Given the description of an element on the screen output the (x, y) to click on. 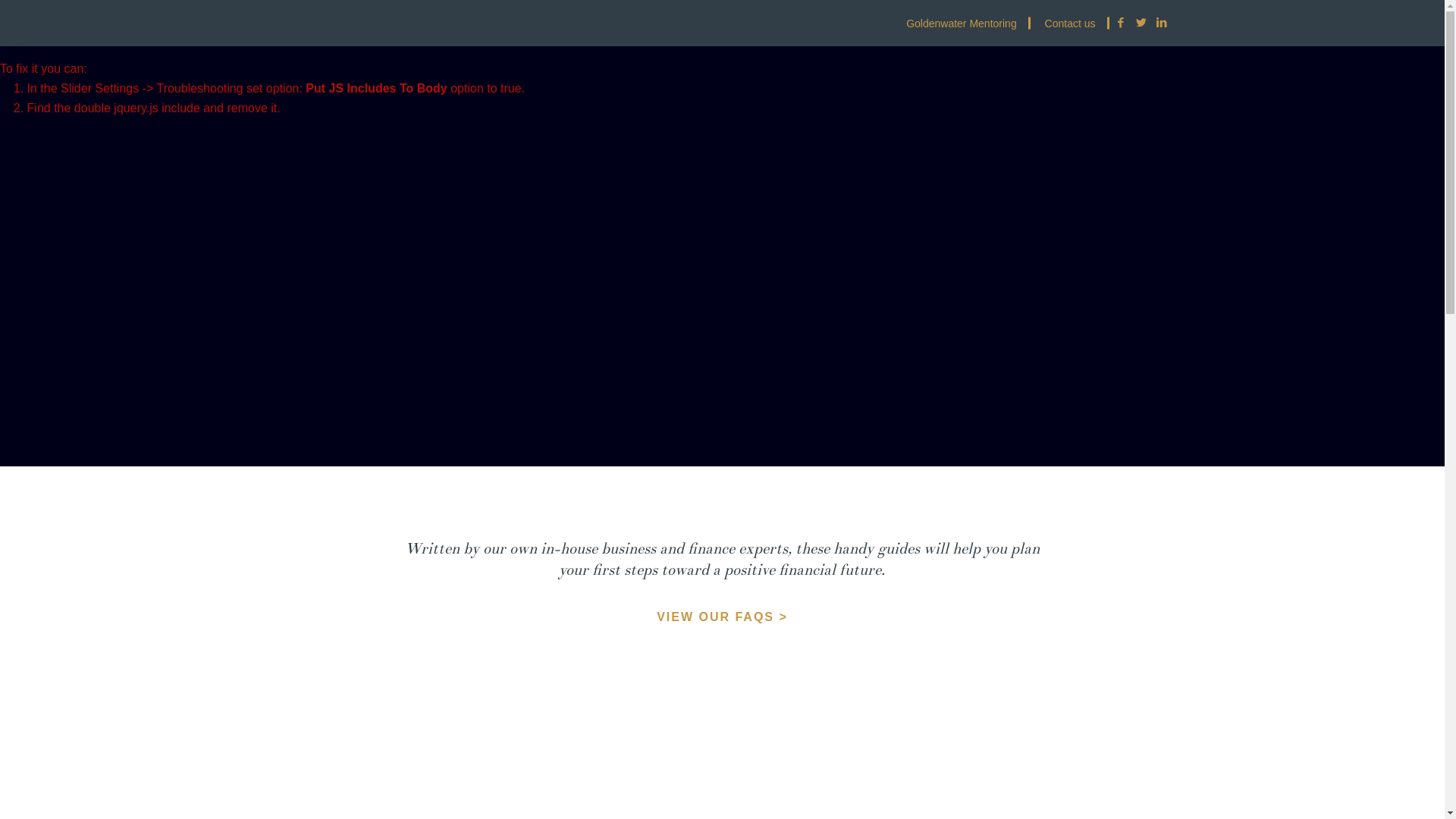
LinkedIn Element type: hover (1162, 21)
Goldenwater Mentoring Element type: text (962, 22)
Twitter Element type: hover (1140, 21)
Contact us Element type: text (1071, 22)
VIEW OUR FAQS > Element type: text (721, 616)
Facebook Element type: hover (1121, 21)
